Given the description of an element on the screen output the (x, y) to click on. 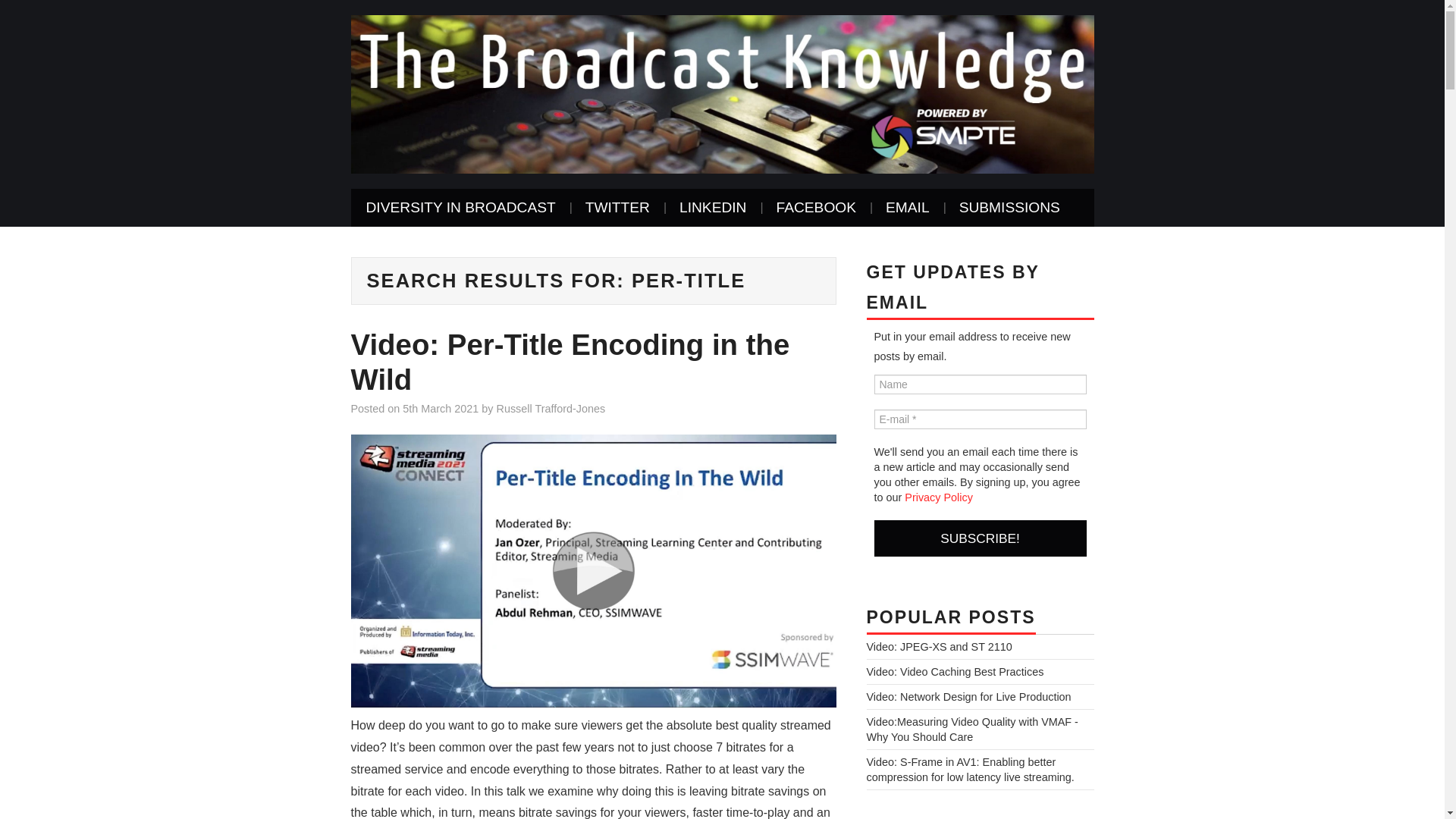
DIVERSITY IN BROADCAST (460, 207)
Subscribe! (979, 538)
SUBMISSIONS (1009, 207)
EMAIL (907, 207)
Video: Per-Title Encoding in the Wild (569, 361)
FACEBOOK (815, 207)
Russell Trafford-Jones (550, 408)
06:33 (441, 408)
5th March 2021 (441, 408)
The Broadcast Knowledge (721, 92)
LINKEDIN (712, 207)
View all posts by Russell Trafford-Jones (550, 408)
E-mail (979, 419)
TWITTER (617, 207)
Name (979, 383)
